Given the description of an element on the screen output the (x, y) to click on. 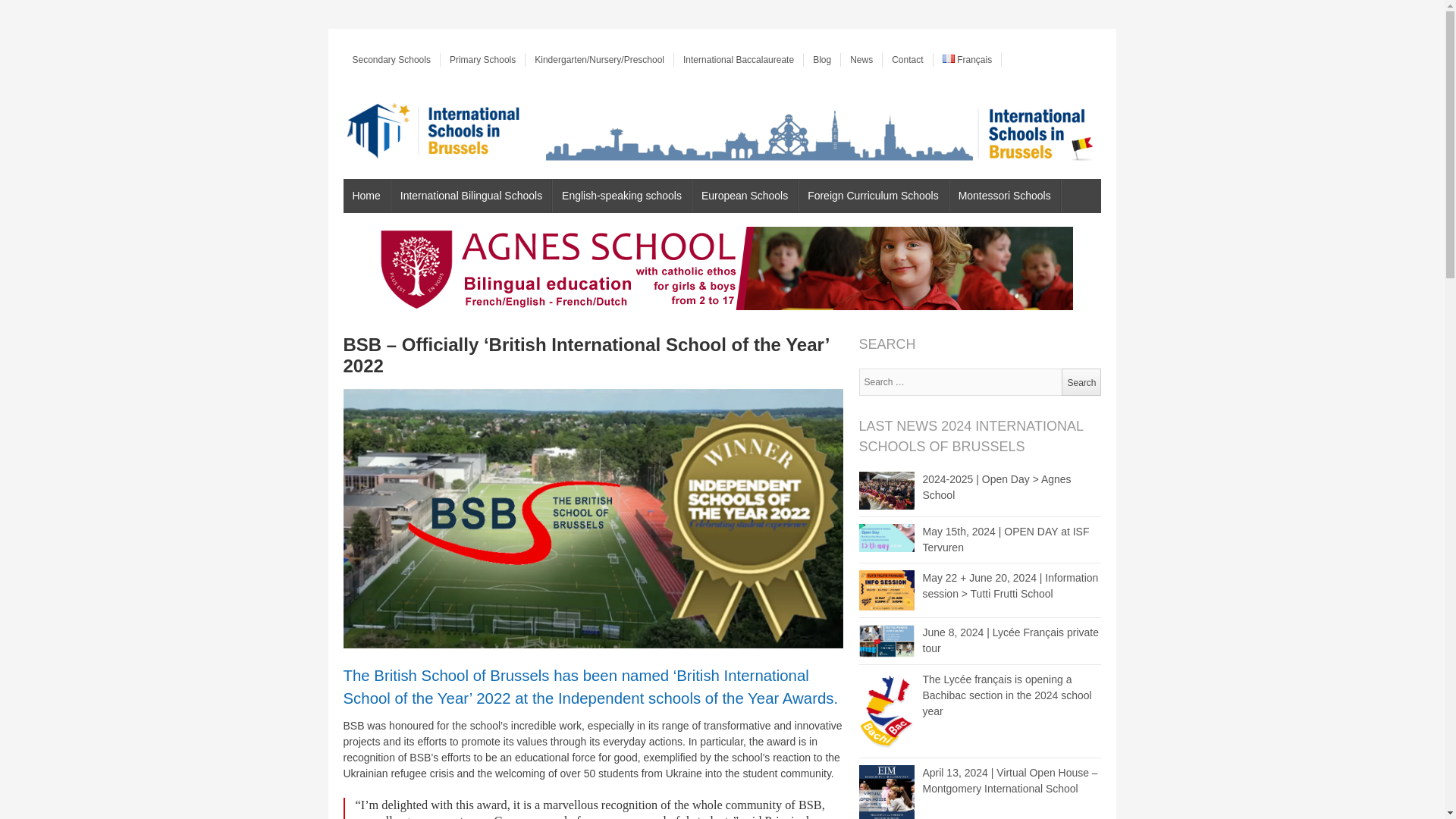
Search (1080, 381)
Blog (822, 59)
Search (1080, 381)
Foreign Curriculum Schools (873, 195)
Contact (907, 59)
Secondary Schools (390, 59)
International Schools In Brussels (431, 130)
International Baccalaureate (738, 59)
English-speaking schools (622, 195)
European Schools (745, 195)
